Given the description of an element on the screen output the (x, y) to click on. 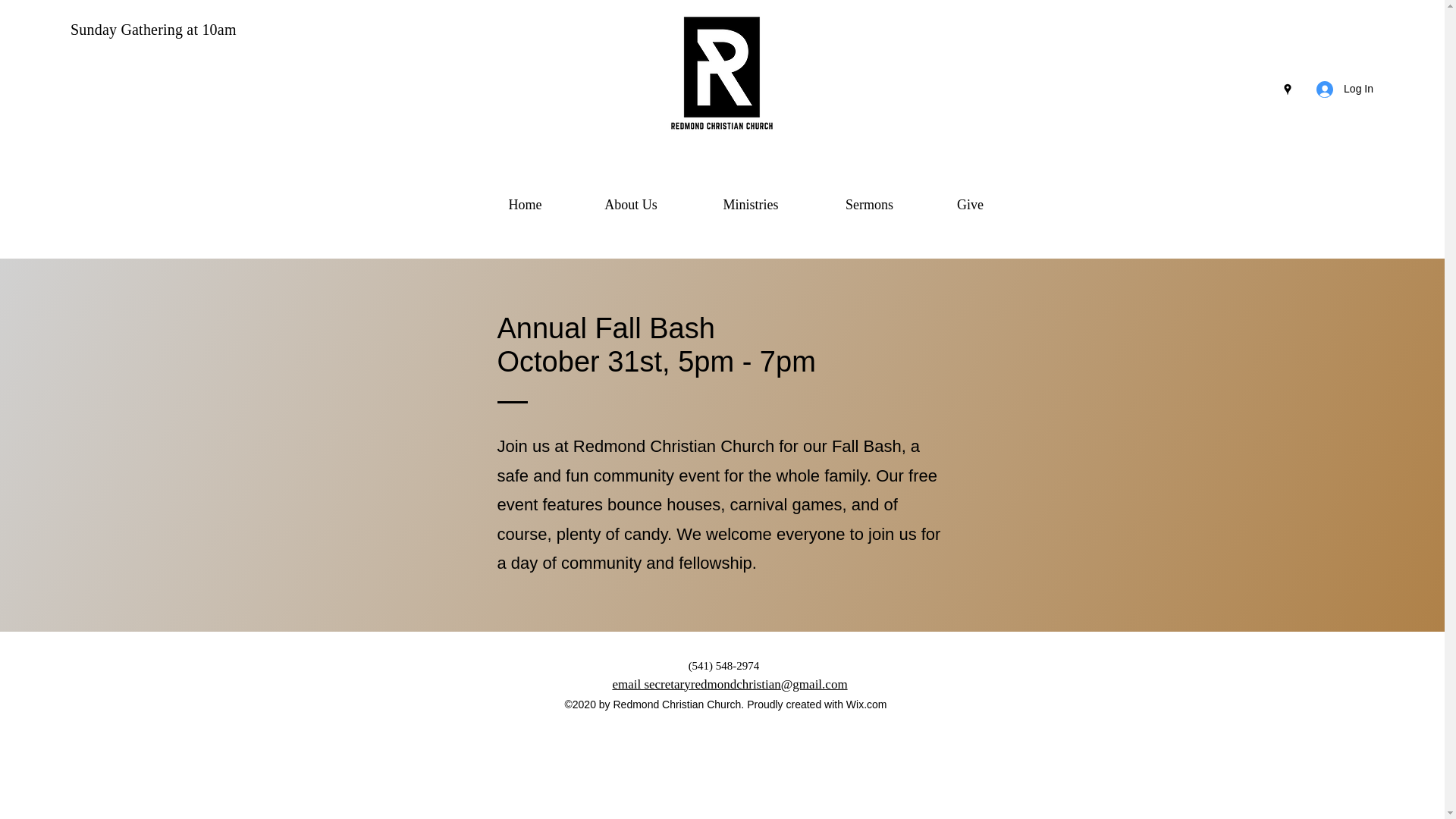
Home (525, 204)
Ministries (750, 204)
Log In (1345, 89)
Sermons (869, 204)
About Us (630, 204)
Give (970, 204)
